Given the description of an element on the screen output the (x, y) to click on. 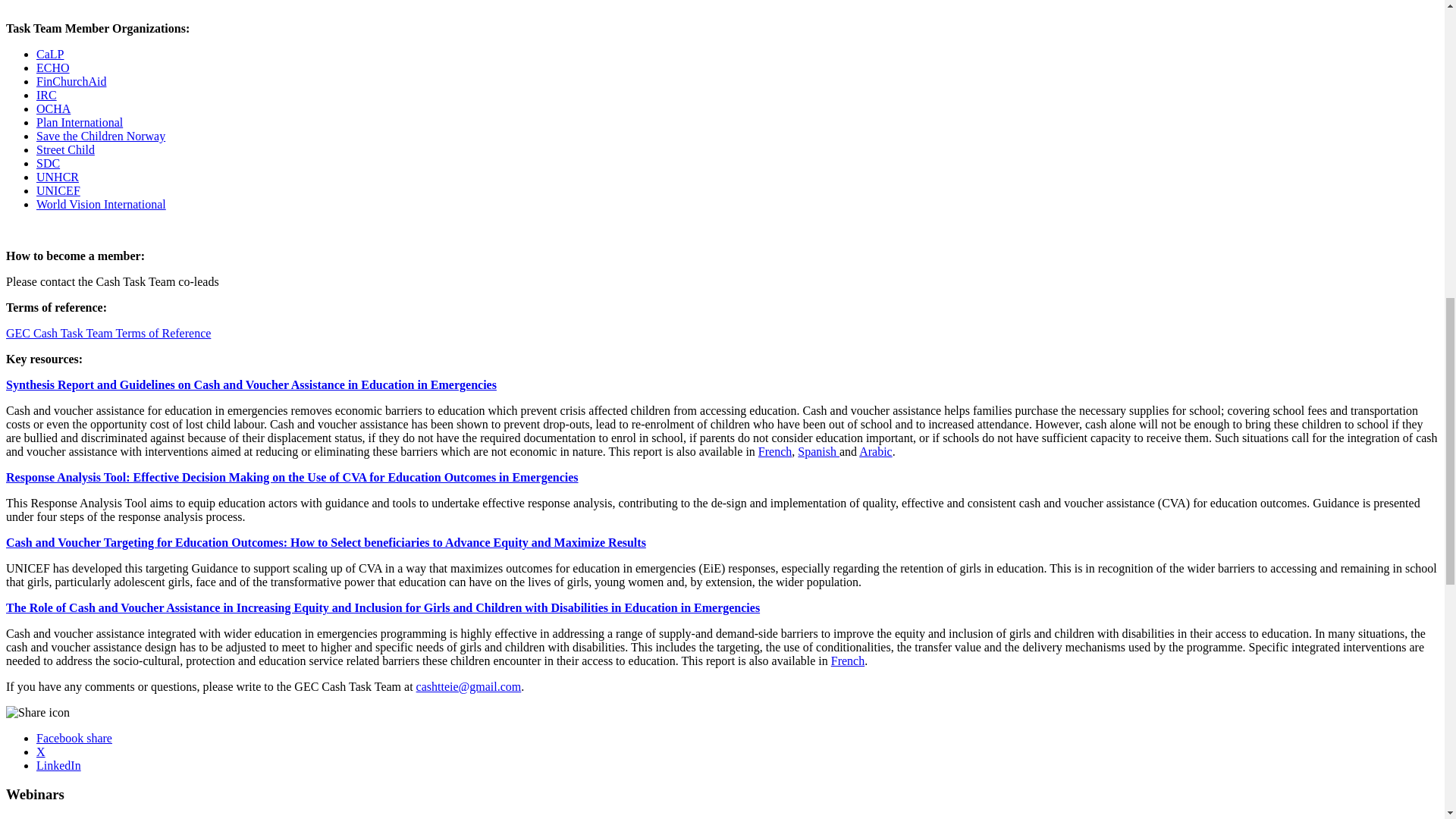
Plan International (79, 122)
SDC (47, 163)
CaLP (50, 53)
ECHO (52, 67)
Street Child (65, 149)
Synthesis Report Arabic (875, 451)
Synthesis Report Spanish (818, 451)
UNHCR (57, 176)
FR Equity Study (847, 660)
OCHA (52, 108)
